Given the description of an element on the screen output the (x, y) to click on. 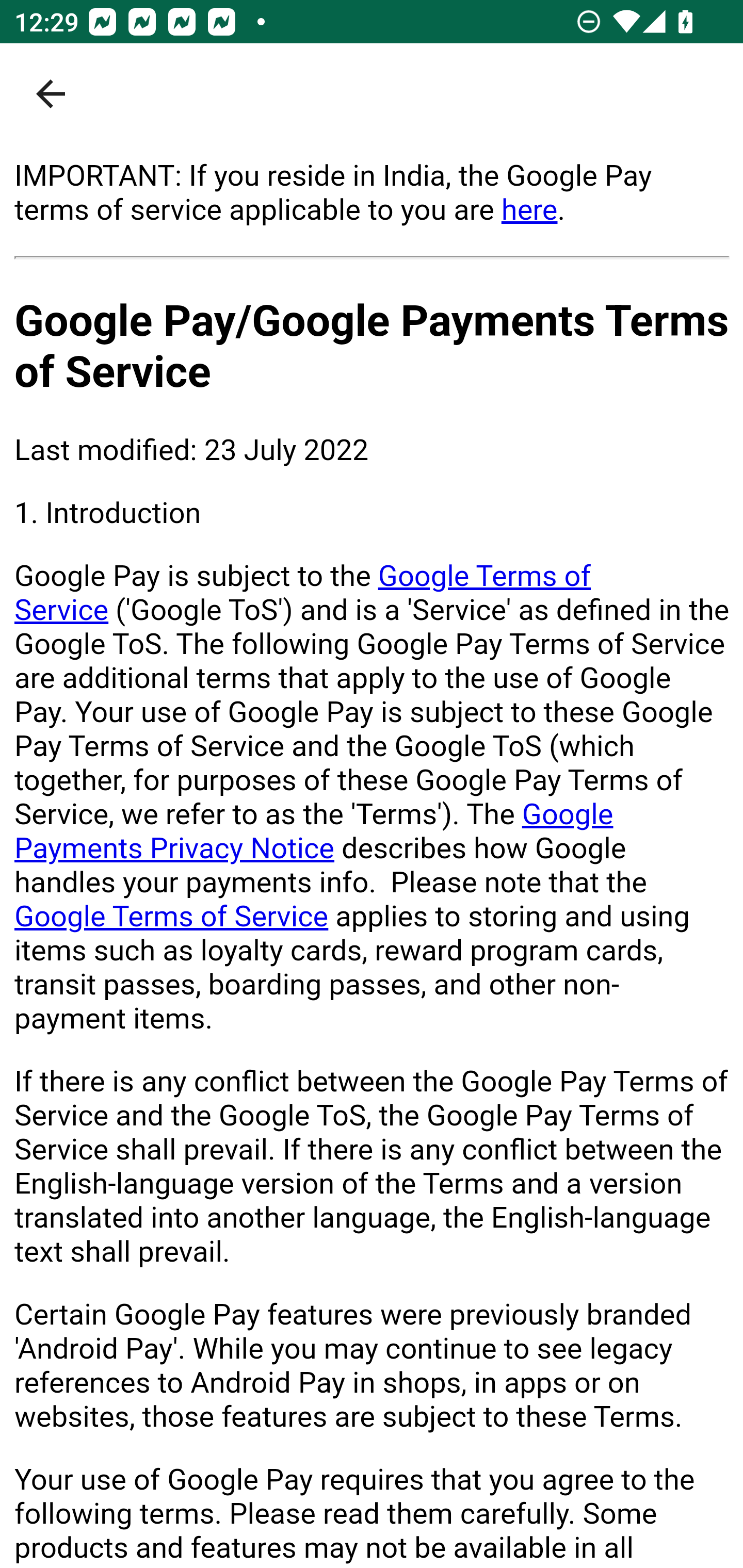
Navigate up (50, 93)
here (528, 209)
Google Terms of Service (303, 593)
Google Payments Privacy Notice (313, 831)
Google Terms of Service (171, 916)
